Given the description of an element on the screen output the (x, y) to click on. 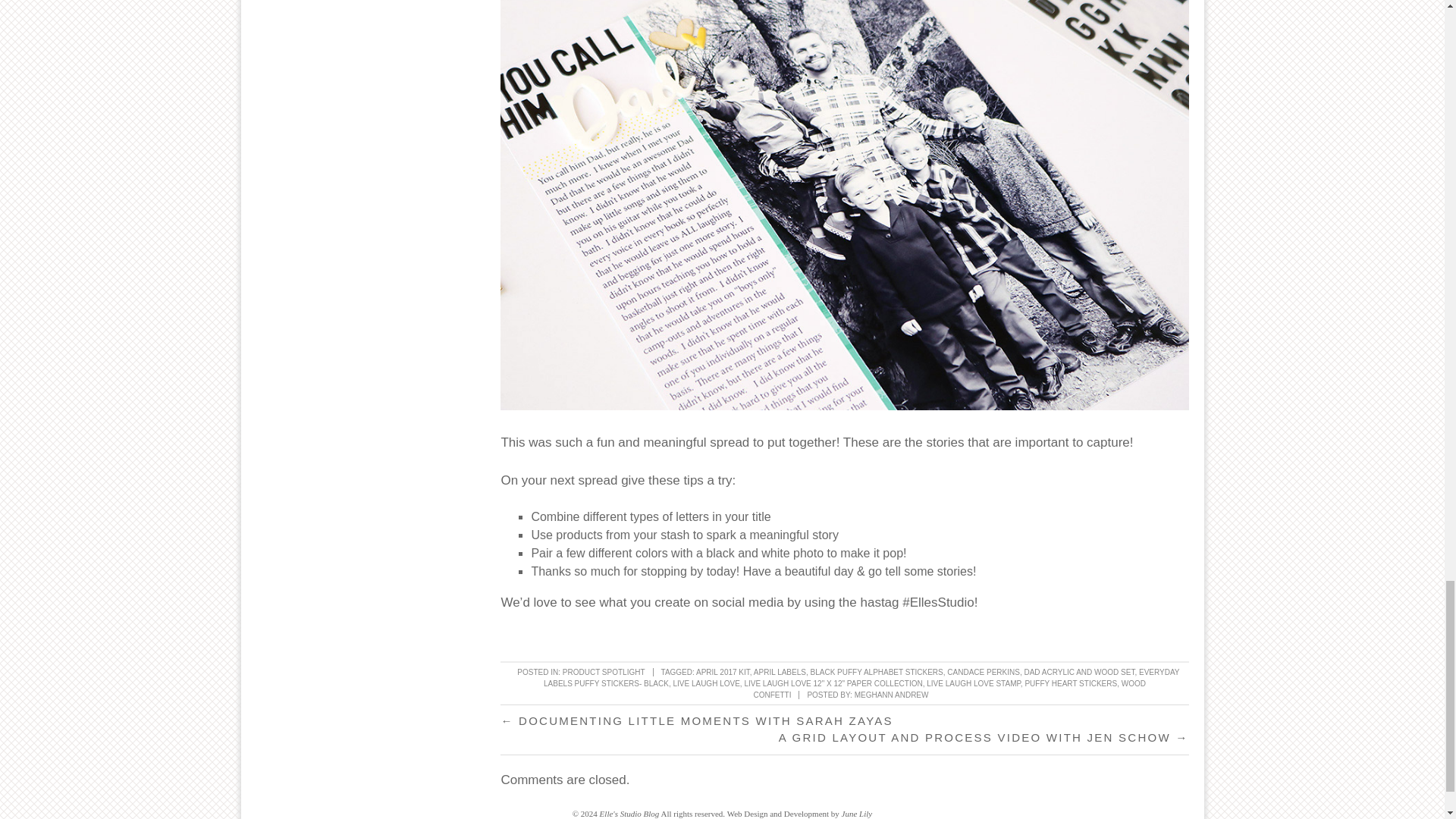
DAD ACRYLIC AND WOOD SET (1078, 672)
PRODUCT SPOTLIGHT (603, 672)
WOOD CONFETTI (948, 689)
MEGHANN ANDREW (891, 695)
CANDACE PERKINS (983, 672)
PUFFY HEART STICKERS (1070, 683)
APRIL 2017 KIT (722, 672)
LIVE LAUGH LOVE STAMP (973, 683)
LIVE LAUGH LOVE 12" X 12" PAPER COLLECTION (832, 683)
View all posts by Meghann Andrew (891, 695)
LIVE LAUGH LOVE (705, 683)
EVERYDAY LABELS PUFFY STICKERS- BLACK (861, 677)
APRIL LABELS (780, 672)
BLACK PUFFY ALPHABET STICKERS (876, 672)
